Given the description of an element on the screen output the (x, y) to click on. 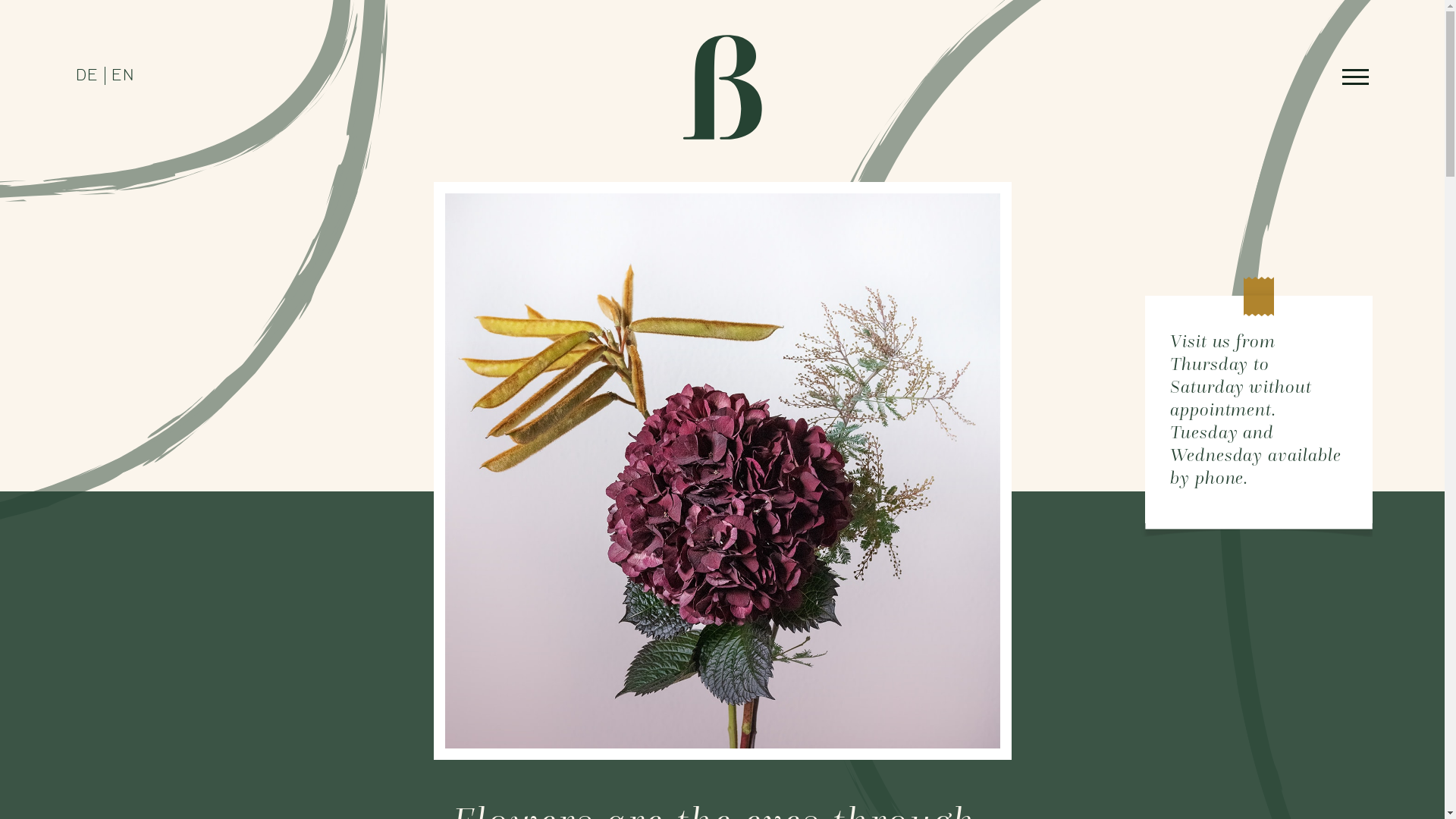
EN Element type: text (122, 76)
DE Element type: text (86, 76)
